Given the description of an element on the screen output the (x, y) to click on. 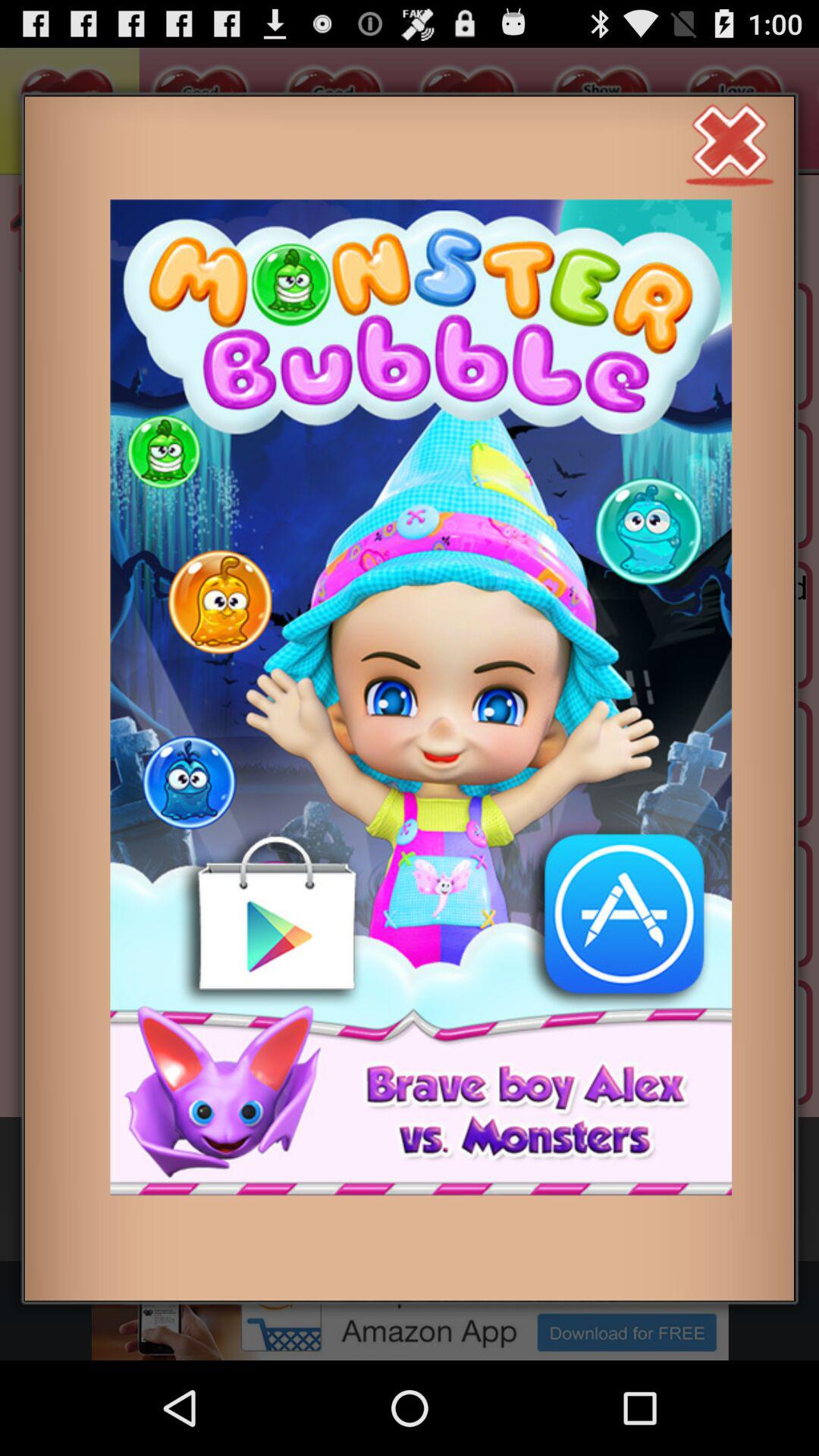
close option (730, 142)
